Given the description of an element on the screen output the (x, y) to click on. 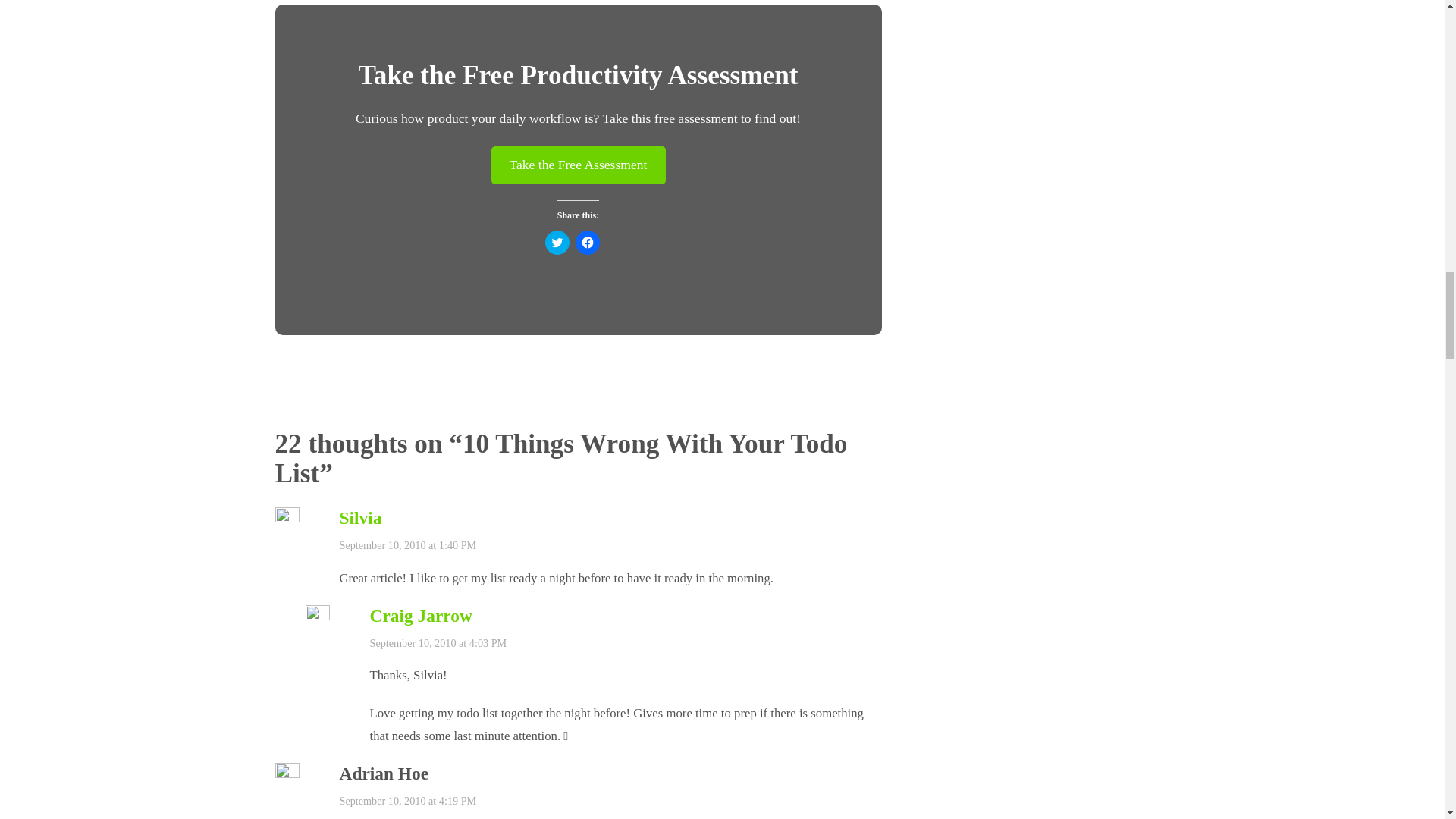
Click to share on Twitter (556, 242)
Take the Free Assessment (578, 165)
Click to share on Facebook (586, 242)
